Given the description of an element on the screen output the (x, y) to click on. 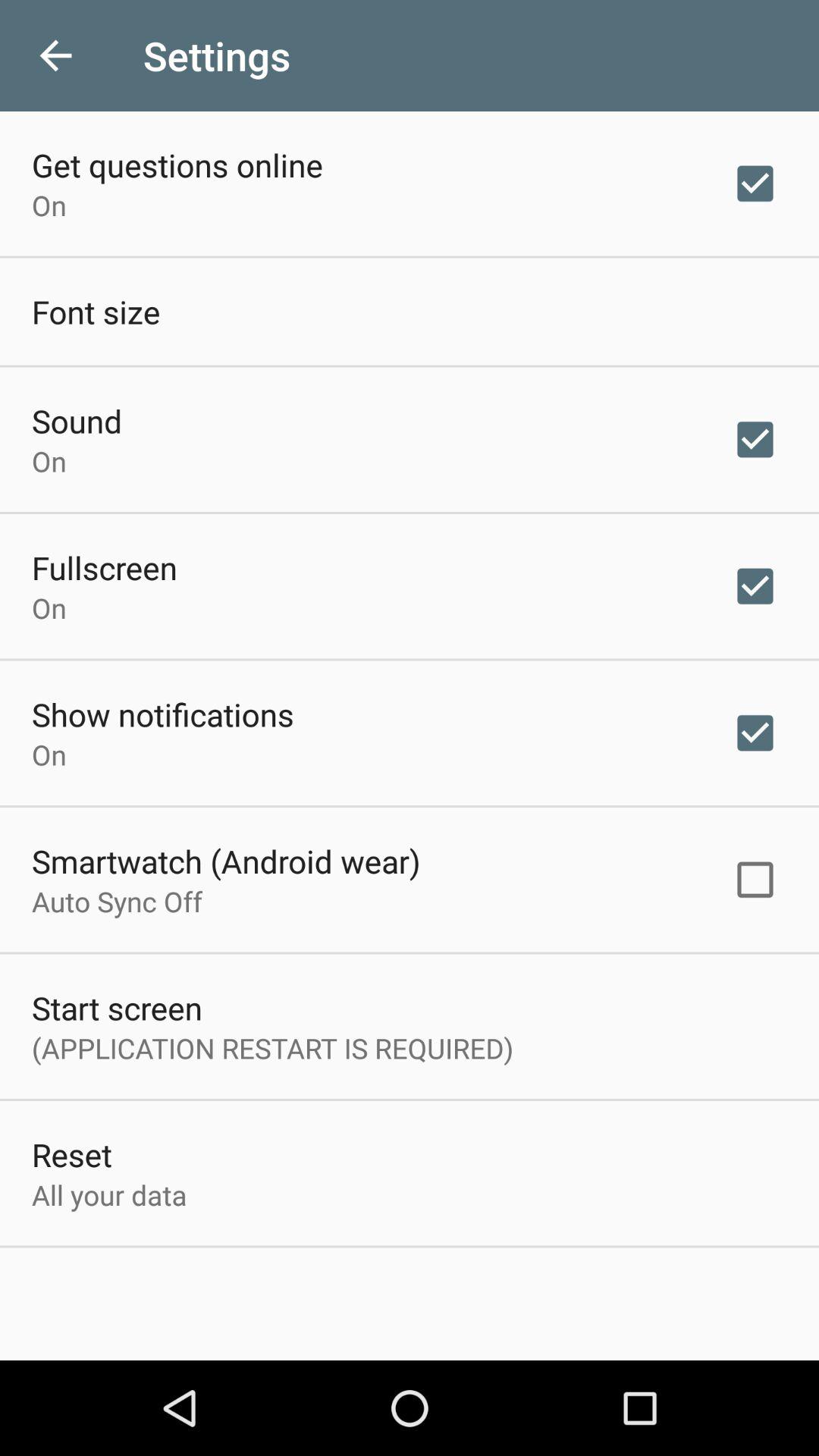
tap smartwatch (android wear) icon (225, 860)
